Given the description of an element on the screen output the (x, y) to click on. 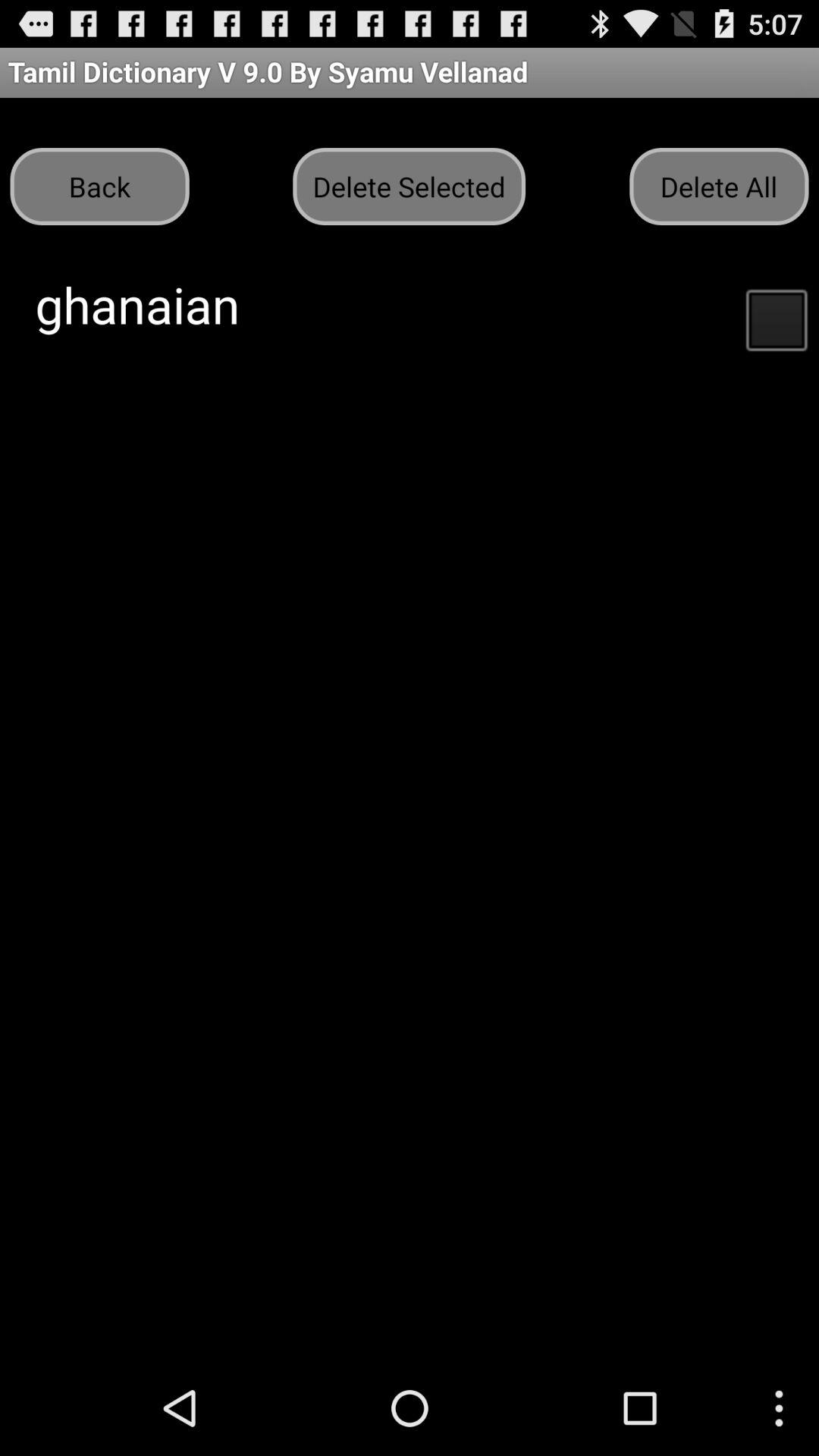
turn on back (99, 186)
